Given the description of an element on the screen output the (x, y) to click on. 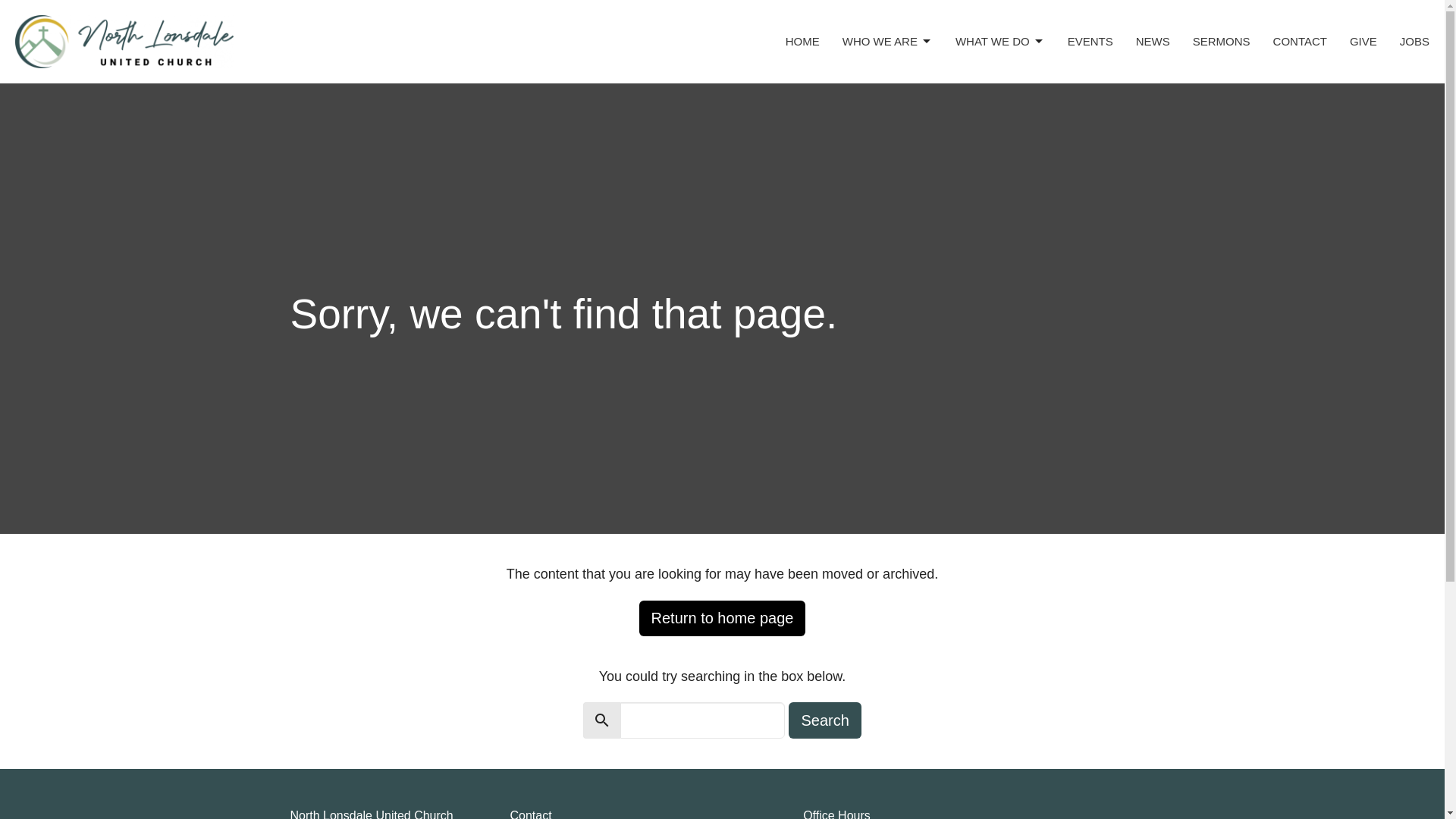
NEWS (1152, 41)
Search (824, 719)
EVENTS (1090, 41)
CONTACT (1299, 41)
SERMONS (1221, 41)
GIVE (1363, 41)
HOME (802, 41)
WHO WE ARE (888, 41)
Return to home page (722, 618)
JOBS (1414, 41)
